Given the description of an element on the screen output the (x, y) to click on. 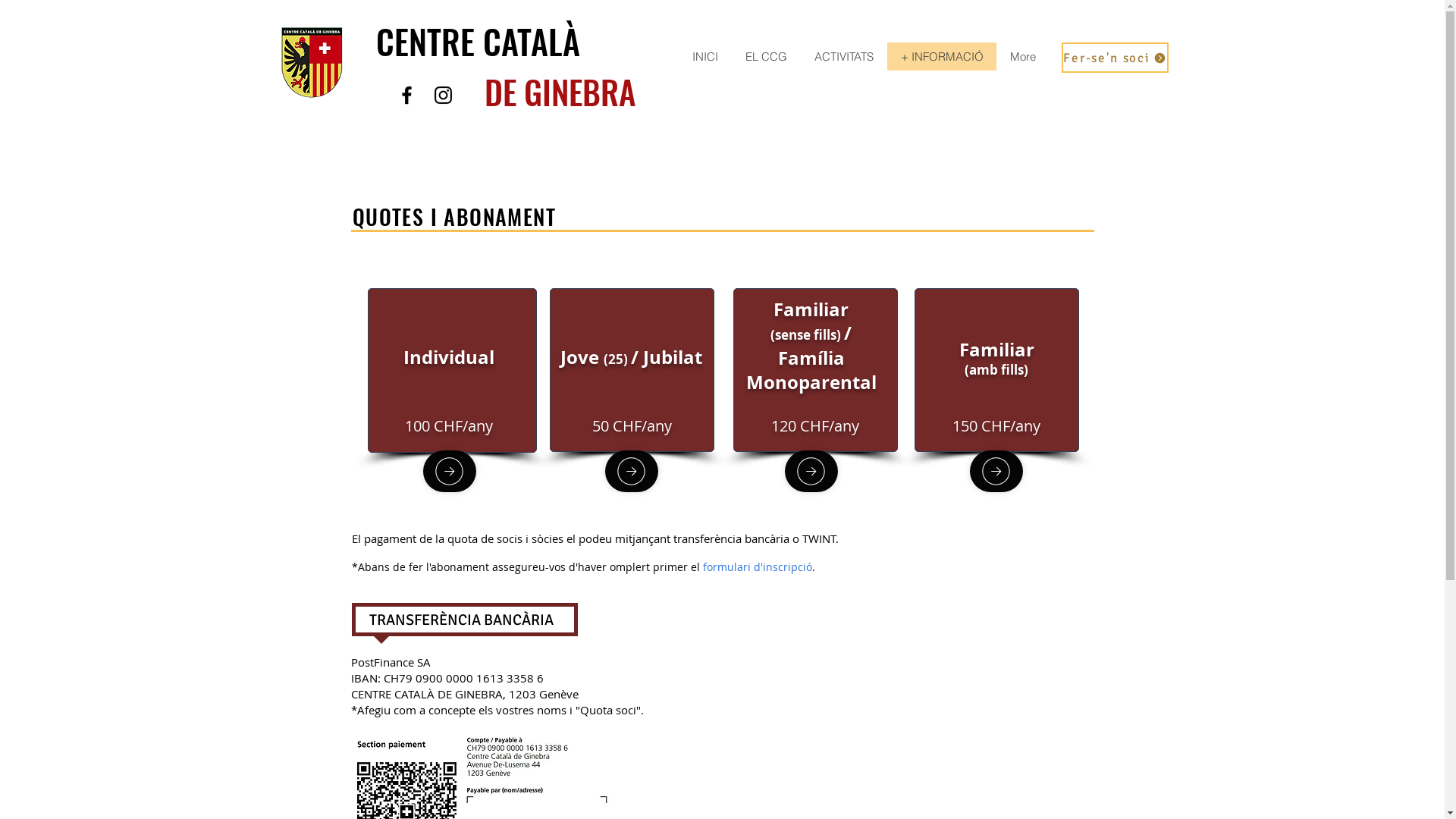
ACTIVITATS Element type: text (843, 56)
WEB-STAT Element type: hover (781, 131)
EL CCG Element type: text (765, 56)
Fer-se'n soci Element type: text (1114, 57)
DE GINEBRA Element type: text (558, 91)
INICI Element type: text (705, 56)
